Given the description of an element on the screen output the (x, y) to click on. 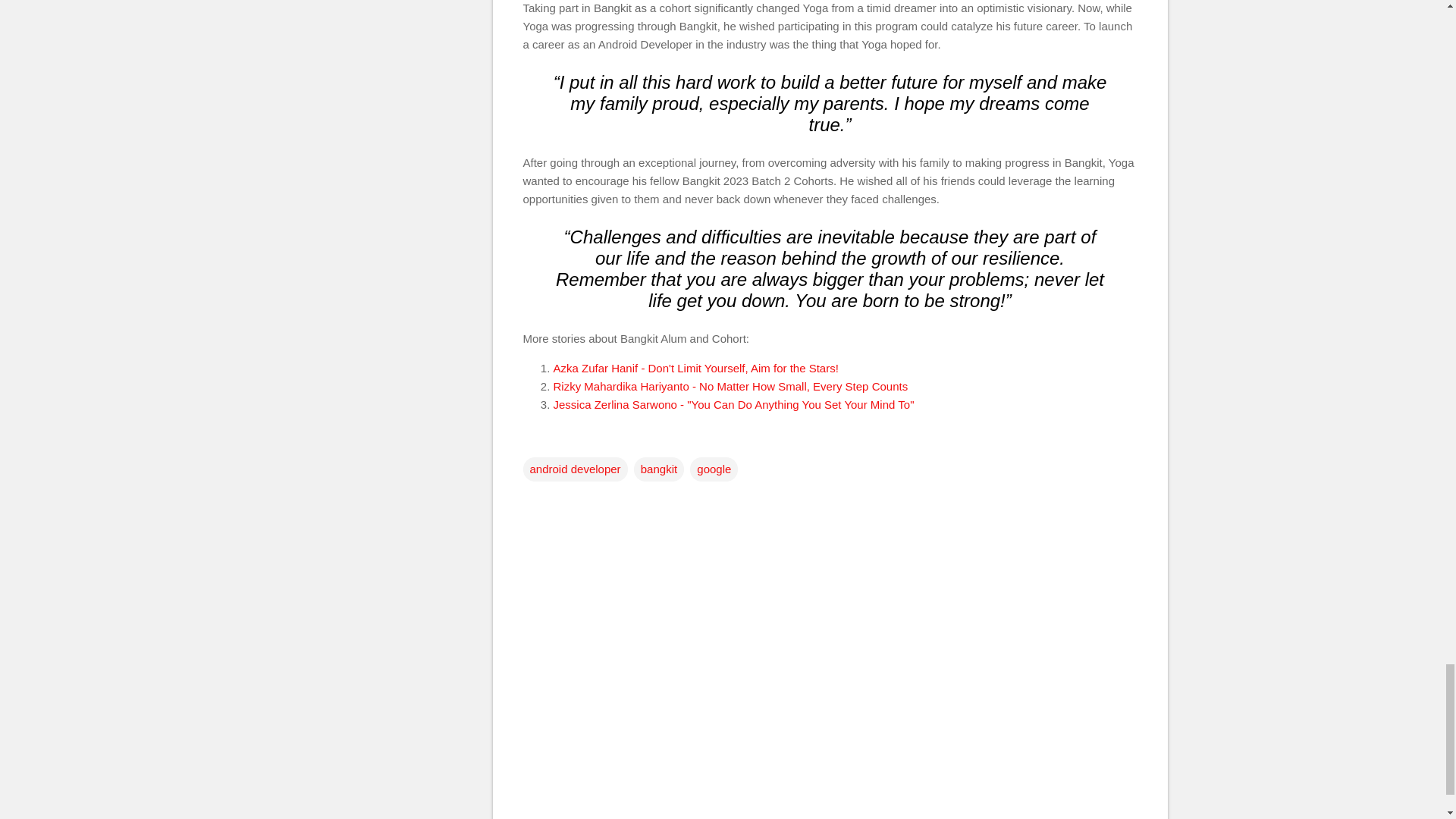
bangkit (658, 469)
android developer (574, 469)
google (714, 469)
Azka Zufar Hanif - Don't Limit Yourself, Aim for the Stars! (695, 367)
